Given the description of an element on the screen output the (x, y) to click on. 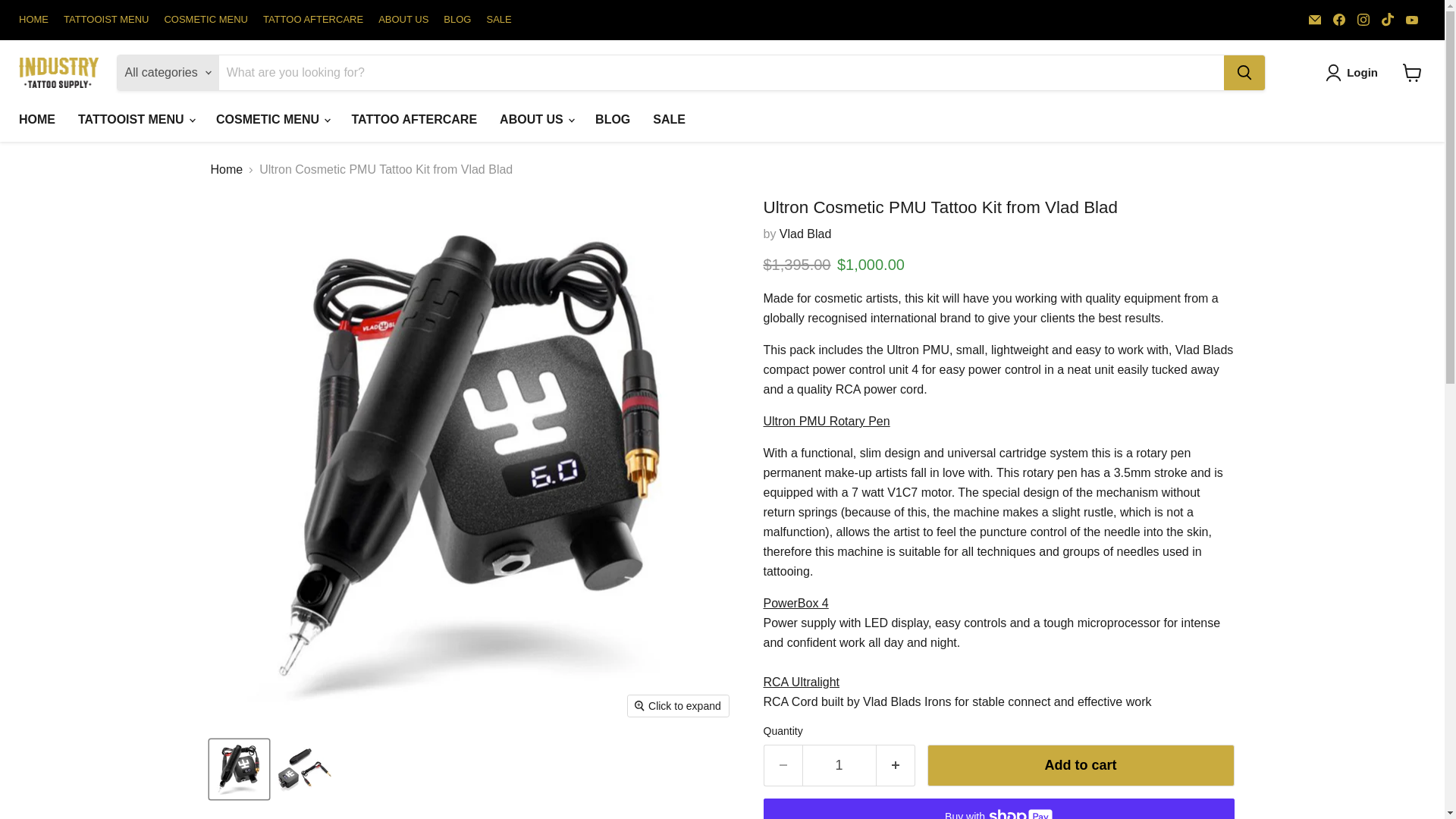
YouTube (1411, 19)
TikTok (1387, 19)
COSMETIC MENU (205, 19)
1 (839, 765)
Email (1314, 19)
Instagram (1363, 19)
Find us on Instagram (1363, 19)
Facebook (1338, 19)
TATTOO AFTERCARE (312, 19)
BLOG (457, 19)
Email Industry Tattoo Supply (1314, 19)
Find us on YouTube (1411, 19)
Find us on Facebook (1338, 19)
Vlad Blad (804, 233)
SALE (498, 19)
